Given the description of an element on the screen output the (x, y) to click on. 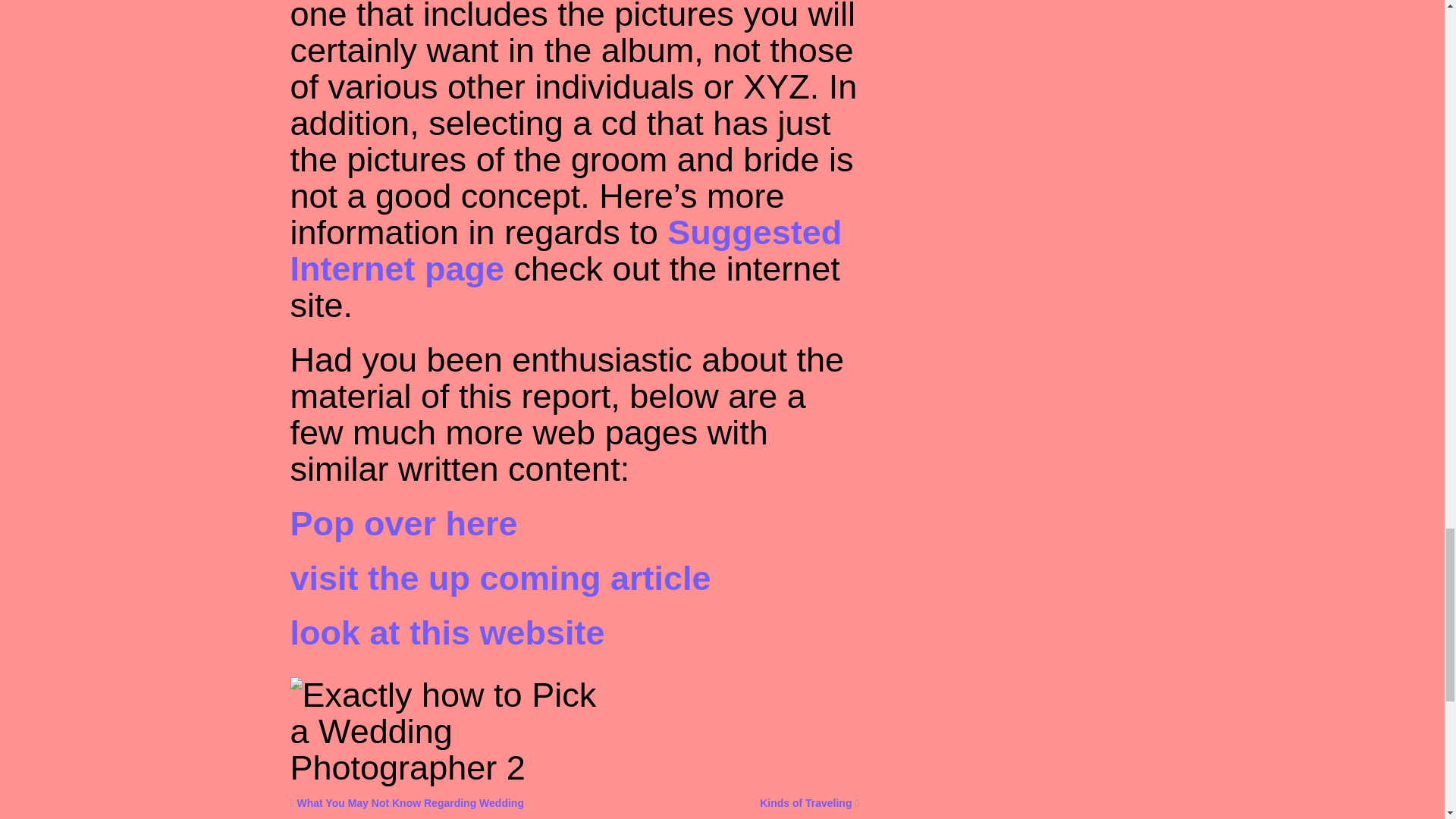
Suggested Internet page (565, 250)
Pop over here (402, 523)
visit the up coming article (499, 577)
What You May Not Know Regarding Wedding (410, 802)
Kinds of Traveling (805, 802)
look at this website (446, 632)
